Given the description of an element on the screen output the (x, y) to click on. 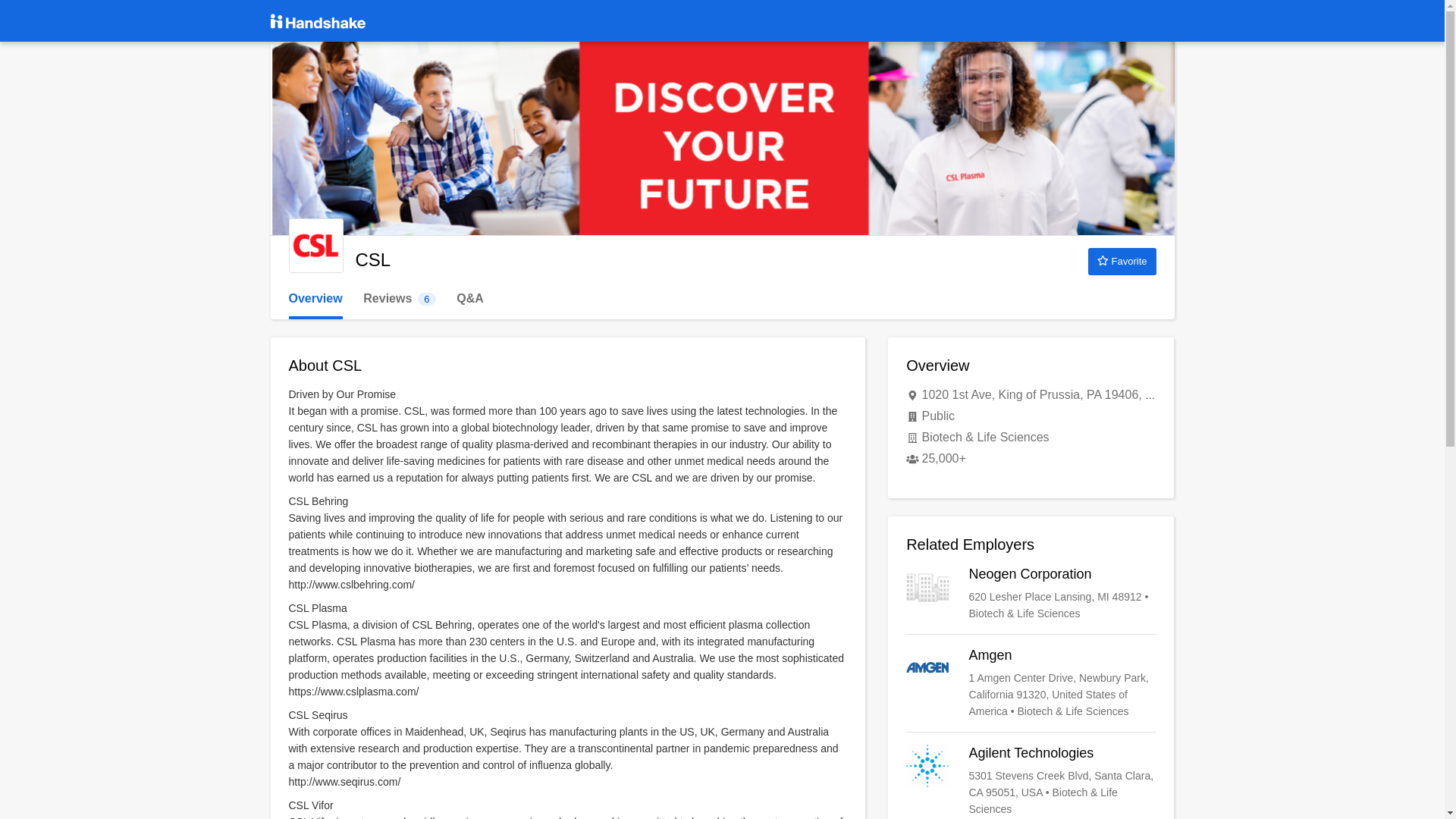
Overview (315, 298)
Neogen Corporation (1030, 593)
CSL (315, 245)
Favorite (398, 298)
Agilent Technologies (1121, 261)
Amgen (1030, 780)
